Given the description of an element on the screen output the (x, y) to click on. 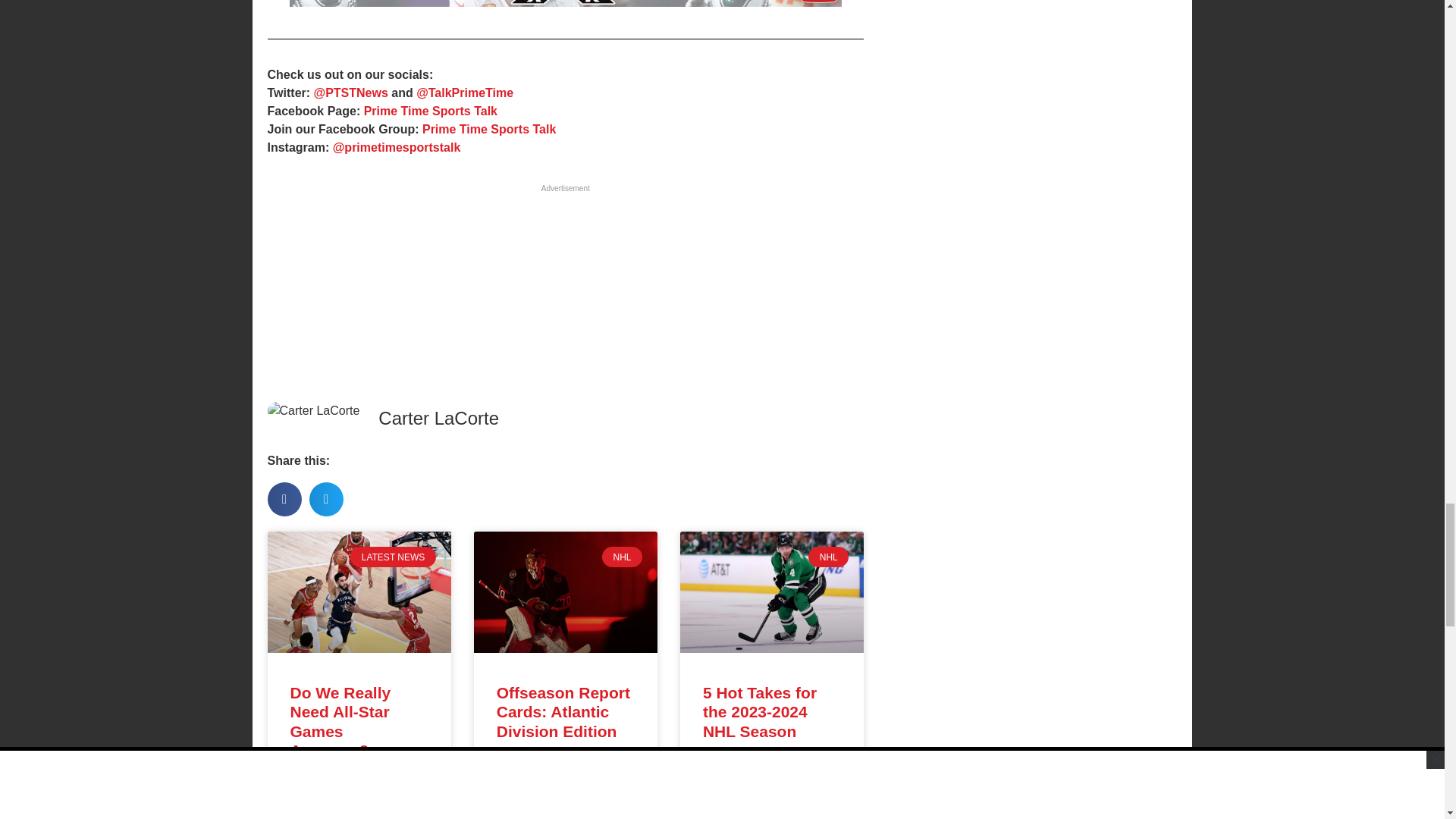
3rd party ad content (564, 291)
